Given the description of an element on the screen output the (x, y) to click on. 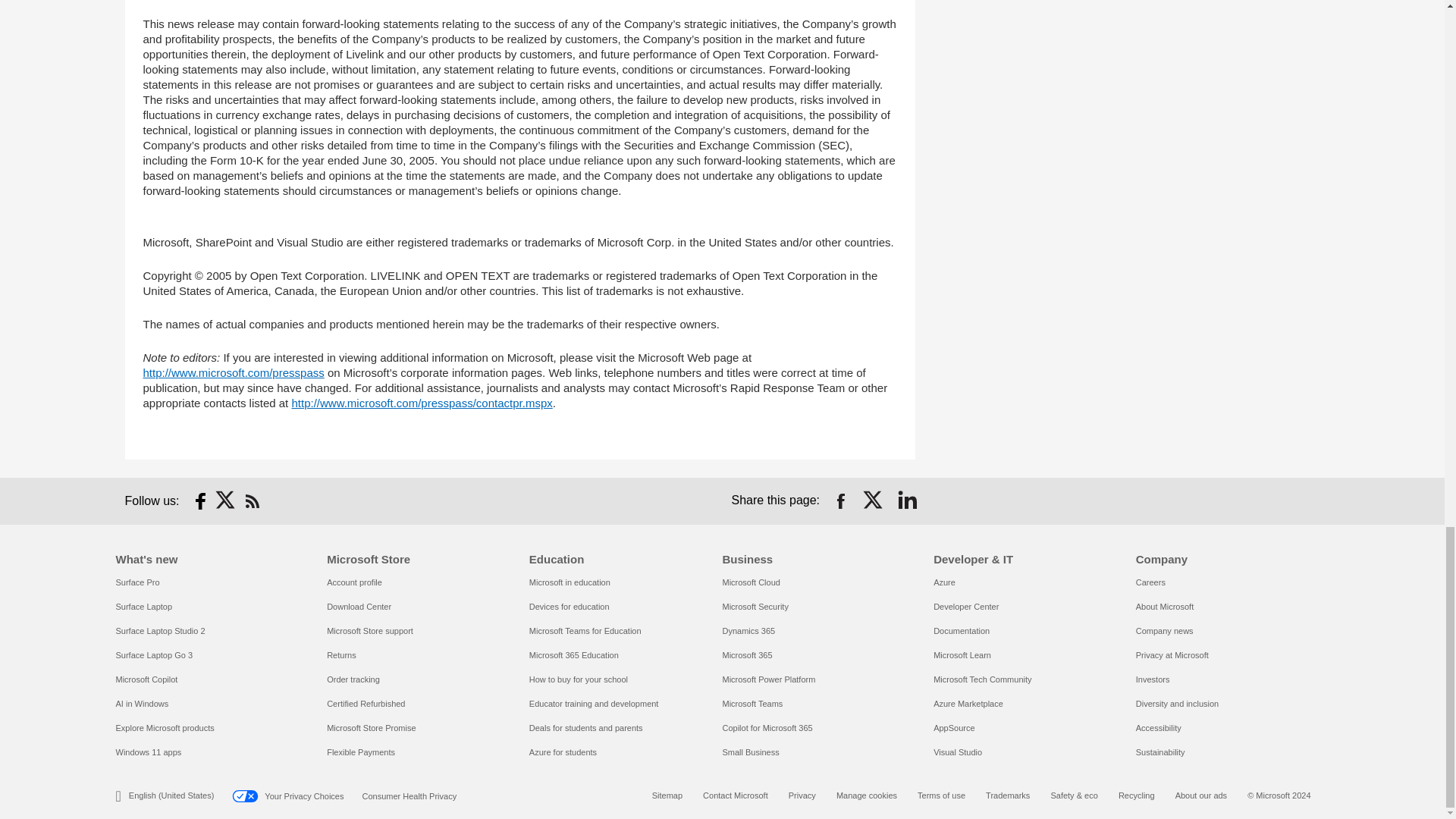
RSS Subscription (252, 500)
Follow on Twitter (226, 500)
Share on LinkedIn (907, 500)
Share on Facebook (840, 500)
Follow on Facebook (200, 500)
Share on Twitter (873, 500)
